Given the description of an element on the screen output the (x, y) to click on. 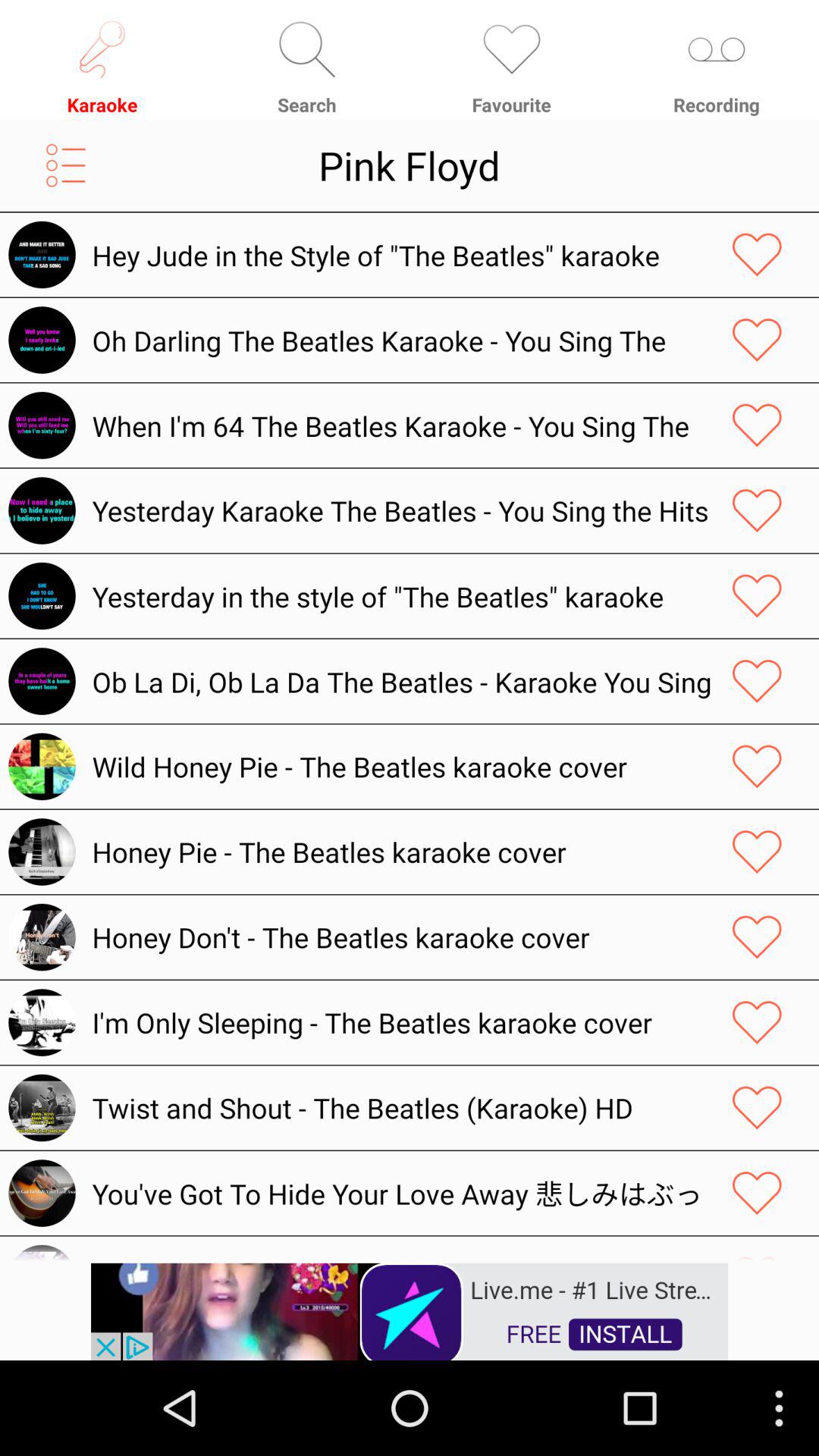
select to give a like (756, 1022)
